Given the description of an element on the screen output the (x, y) to click on. 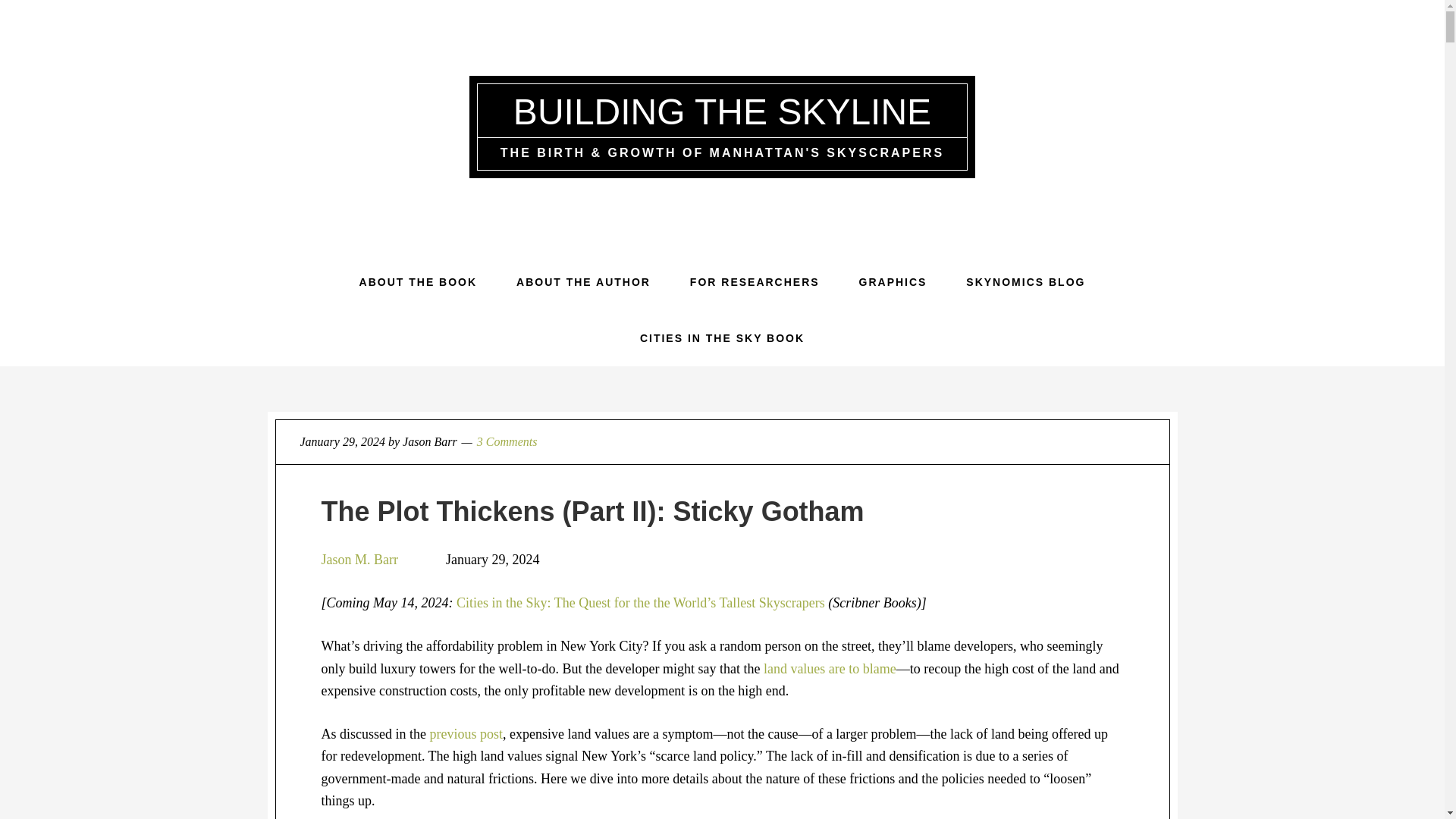
3 Comments (507, 440)
FOR RESEARCHERS (754, 281)
GRAPHICS (892, 281)
land values are to blame (829, 668)
Jason M. Barr  (361, 559)
ABOUT THE BOOK (418, 281)
previous post (465, 734)
SKYNOMICS BLOG (1025, 281)
BUILDING THE SKYLINE (722, 111)
CITIES IN THE SKY BOOK (721, 338)
